Given the description of an element on the screen output the (x, y) to click on. 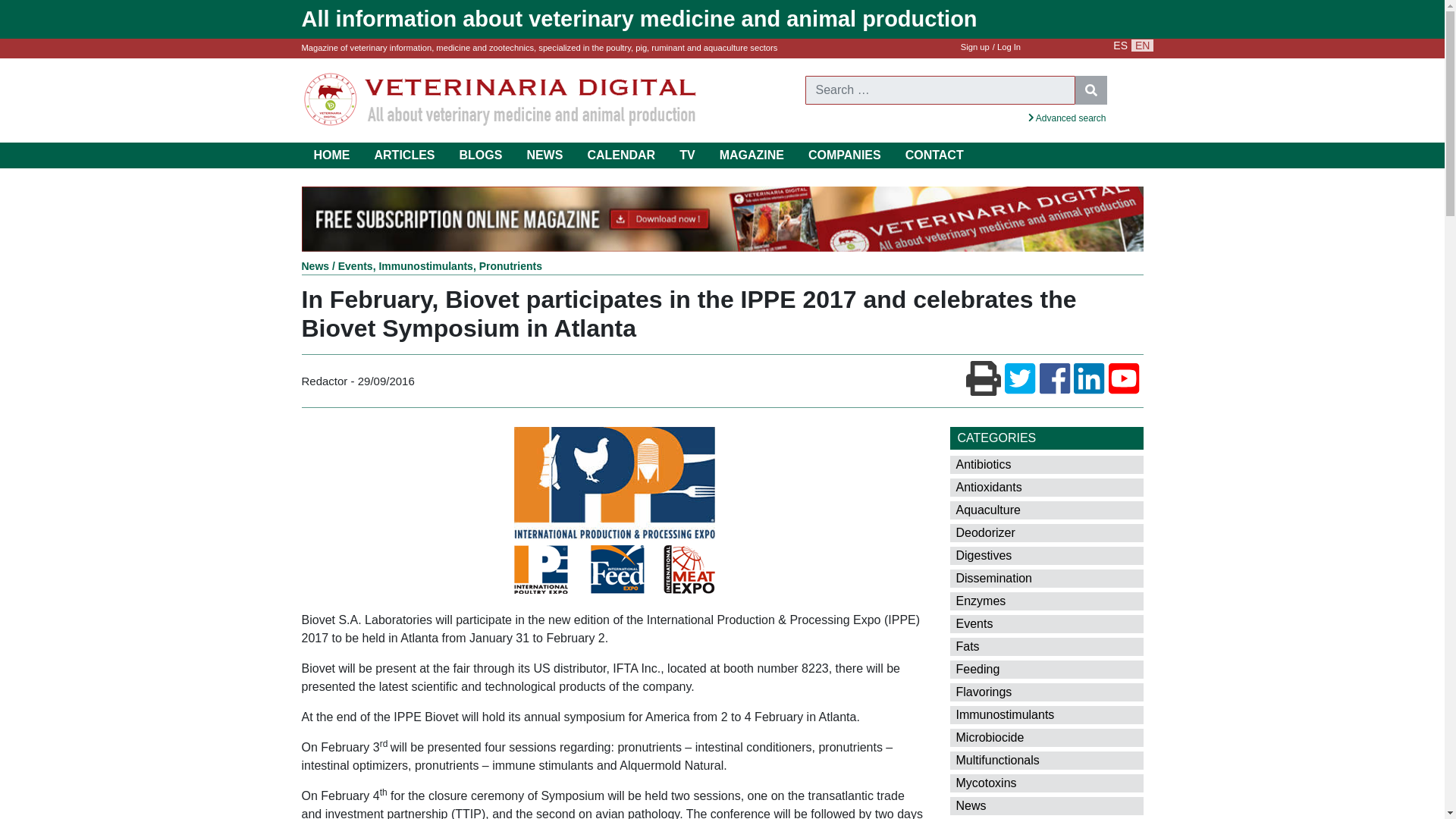
TV (686, 154)
Pronutrients (510, 265)
ES (1120, 45)
COMPANIES (844, 154)
HOME (332, 154)
EN (1142, 45)
CONTACT (934, 154)
MAGAZINE (751, 154)
Events (354, 265)
BLOGS (481, 154)
